Given the description of an element on the screen output the (x, y) to click on. 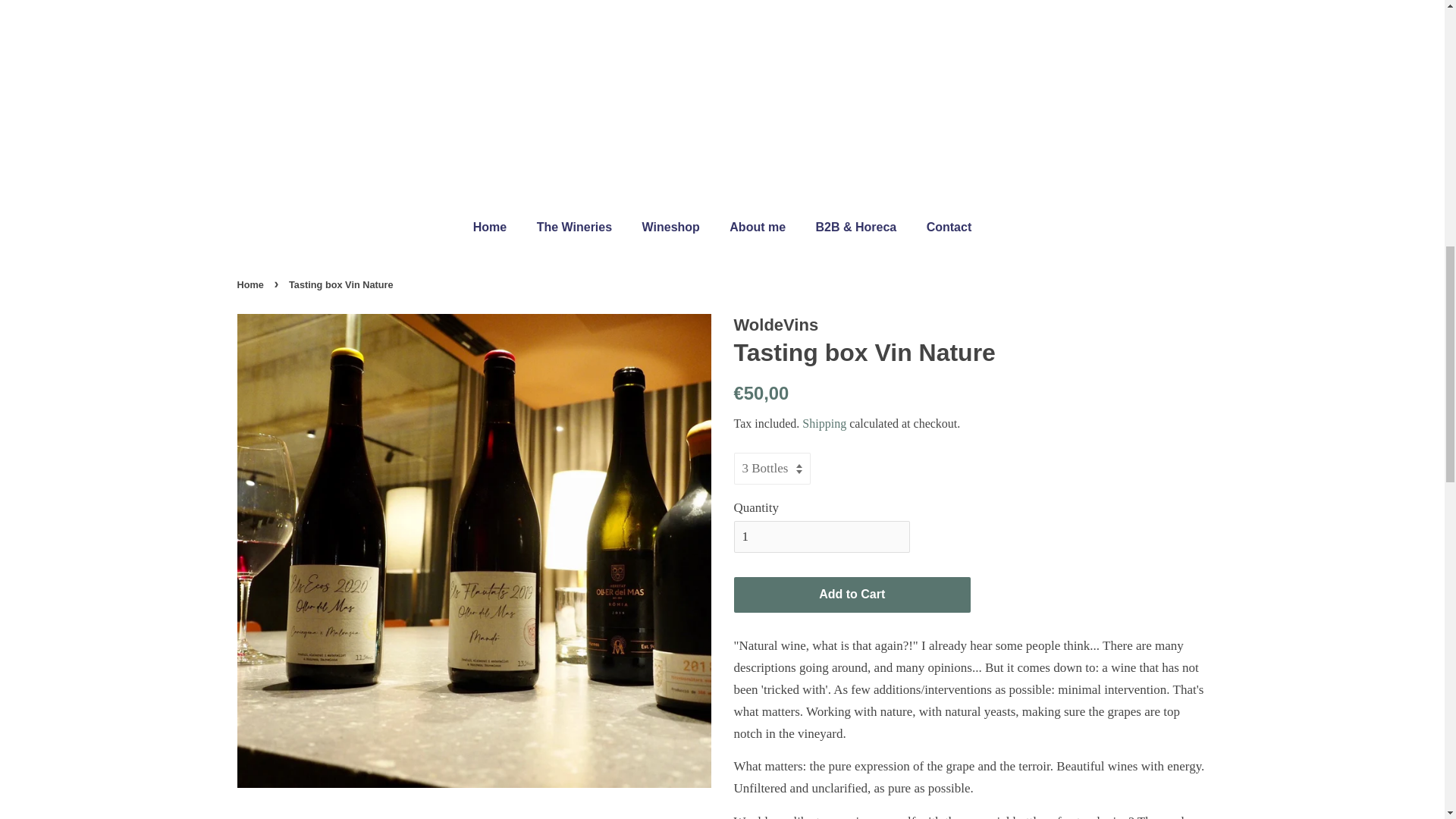
The Wineries (576, 226)
About me (758, 226)
Shipping (823, 422)
Home (250, 284)
Contact (943, 226)
Back to the frontpage (250, 284)
Add to Cart (852, 594)
Wineshop (672, 226)
Home (497, 226)
1 (821, 536)
